Given the description of an element on the screen output the (x, y) to click on. 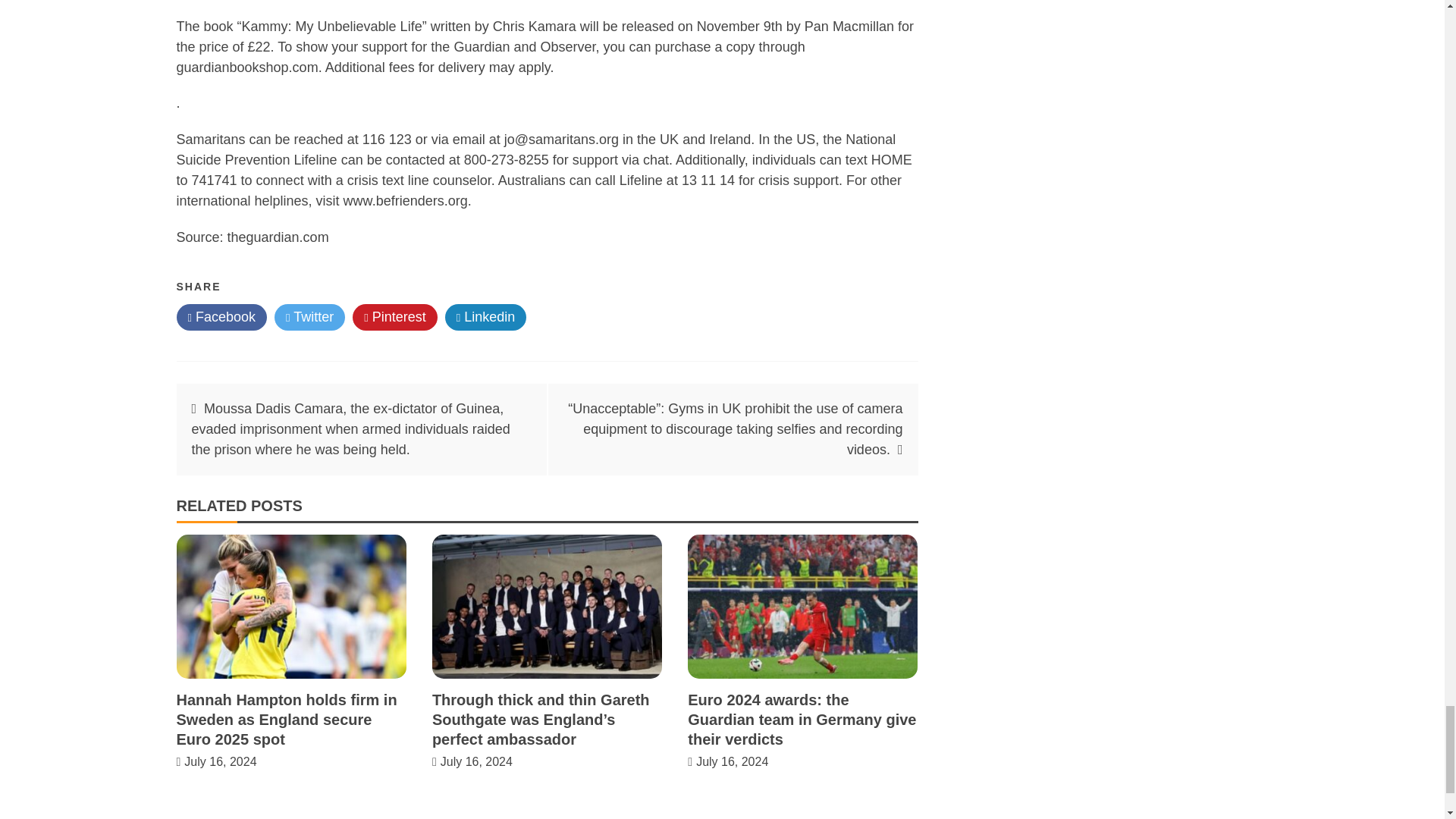
July 16, 2024 (476, 761)
July 16, 2024 (731, 761)
Facebook (221, 316)
July 16, 2024 (220, 761)
Linkedin (486, 316)
Pinterest (395, 316)
Twitter (310, 316)
